Given the description of an element on the screen output the (x, y) to click on. 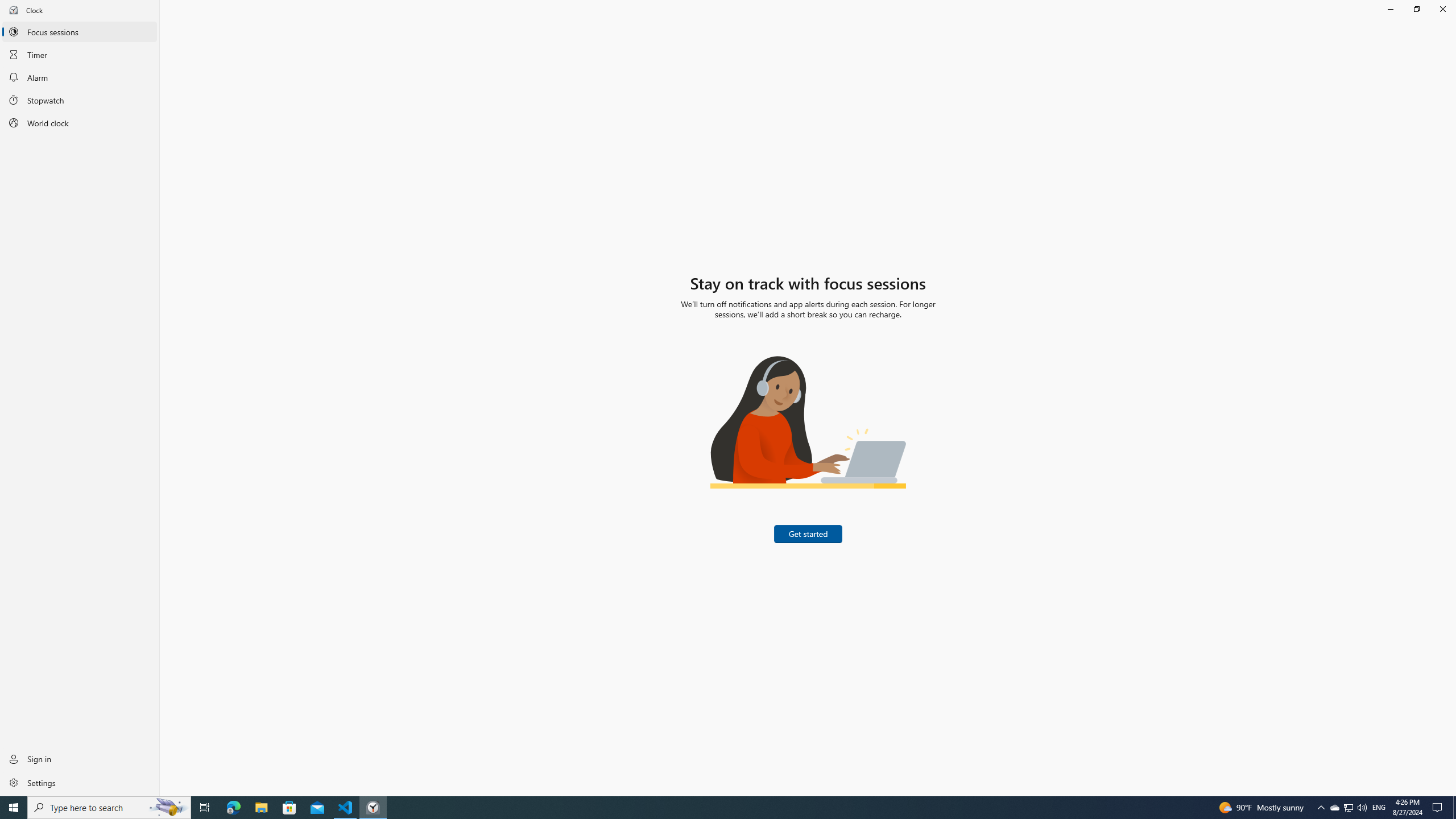
User Promoted Notification Area (1347, 807)
Visual Studio Code - 1 running window (1347, 807)
Microsoft Store (345, 807)
Tray Input Indicator - English (United States) (289, 807)
Clock - 1 running window (1378, 807)
Search highlights icon opens search home window (373, 807)
Settings (167, 807)
Sign in (79, 782)
Q2790: 100% (79, 758)
Action Center, No new notifications (1361, 807)
Show desktop (1439, 807)
Type here to search (1454, 807)
